Given the description of an element on the screen output the (x, y) to click on. 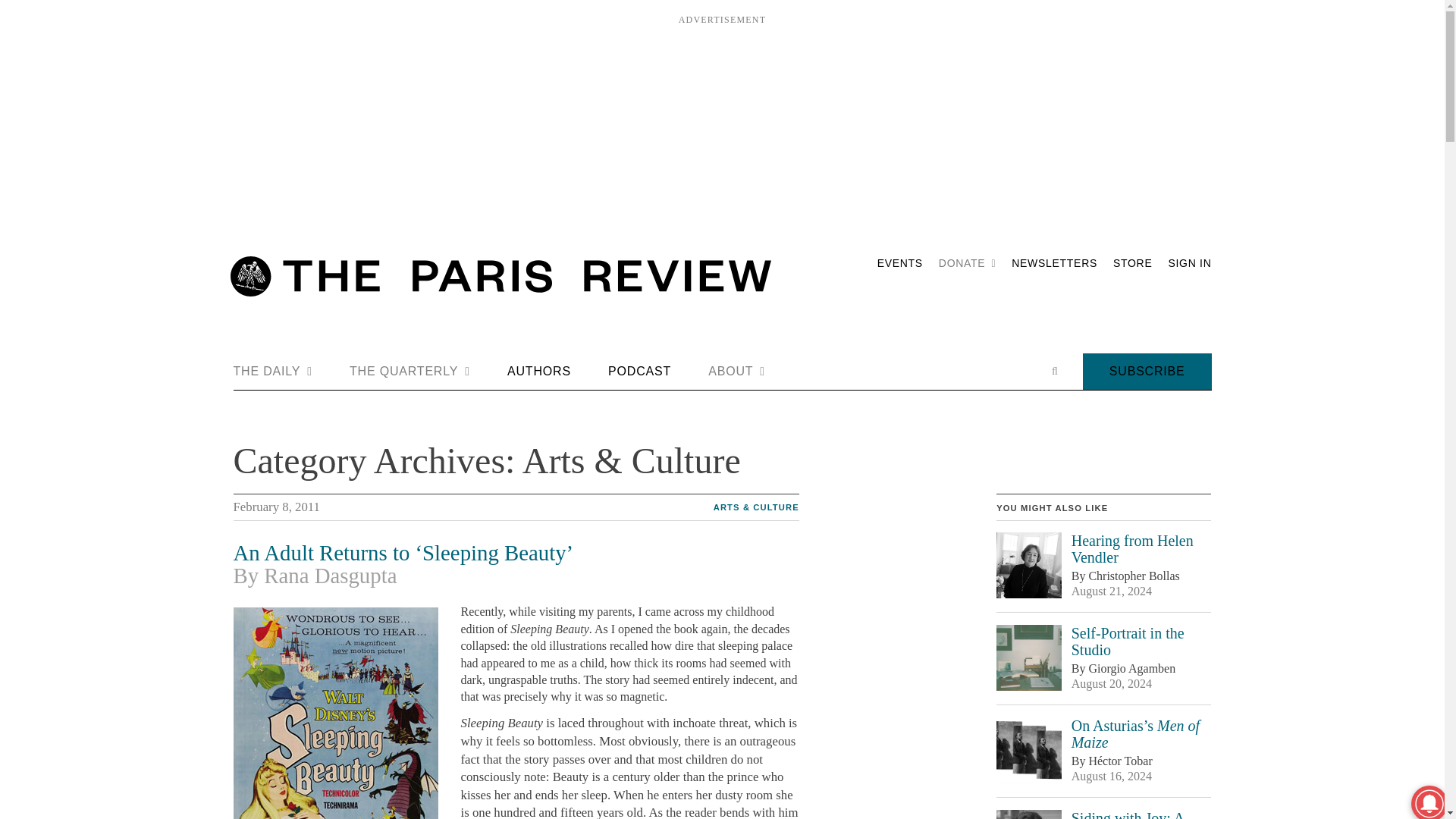
Posts by Rana Dasgupta (329, 575)
Open search (1054, 371)
Sleeping Beauty (335, 713)
THE DAILY (272, 371)
THE QUARTERLY (409, 371)
